Given the description of an element on the screen output the (x, y) to click on. 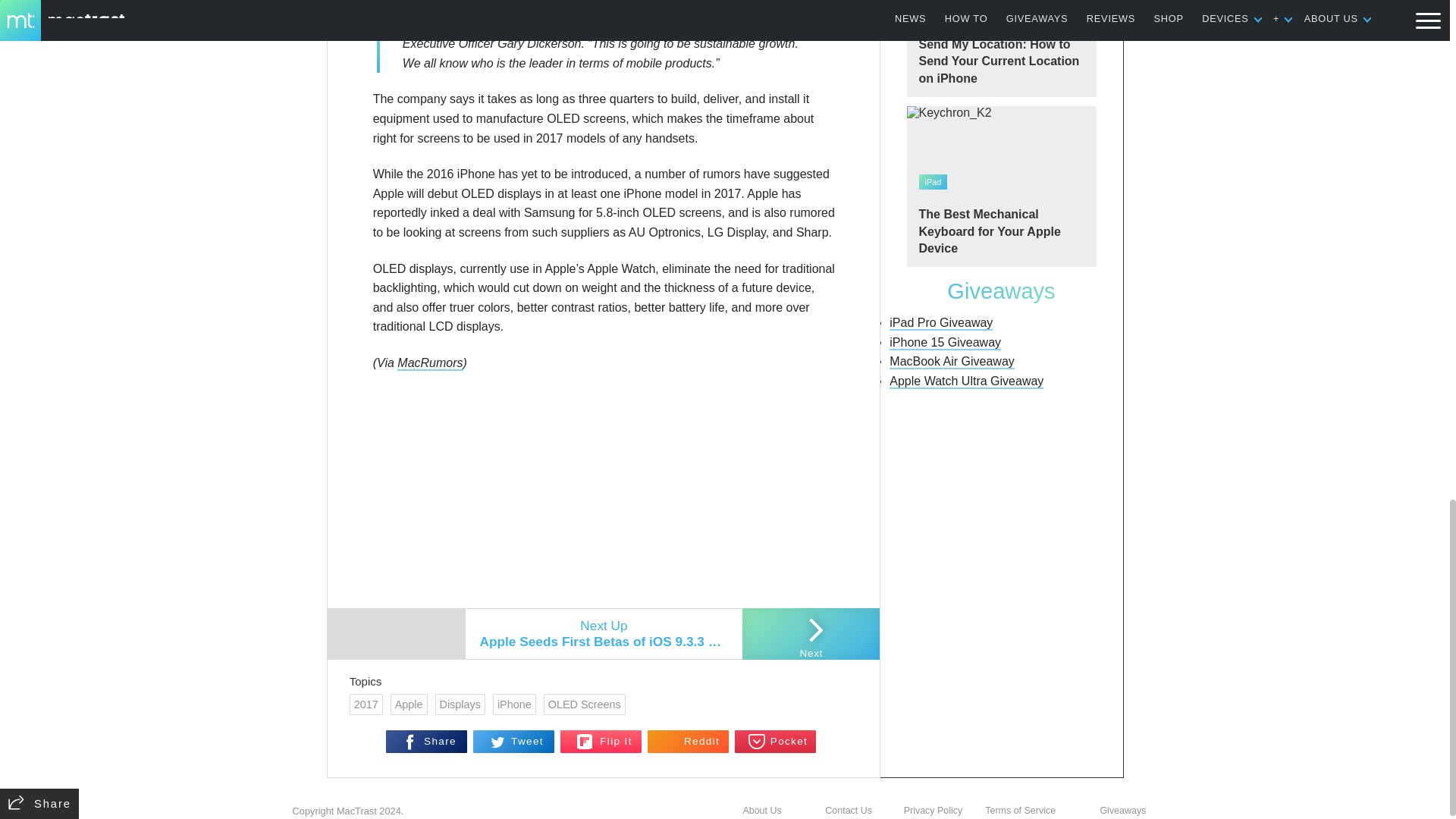
Share on Facebook (426, 741)
Share on Reddit (688, 741)
Tweet (513, 741)
The Best Mechanical Keyboard for Your Apple Device (1001, 186)
